Given the description of an element on the screen output the (x, y) to click on. 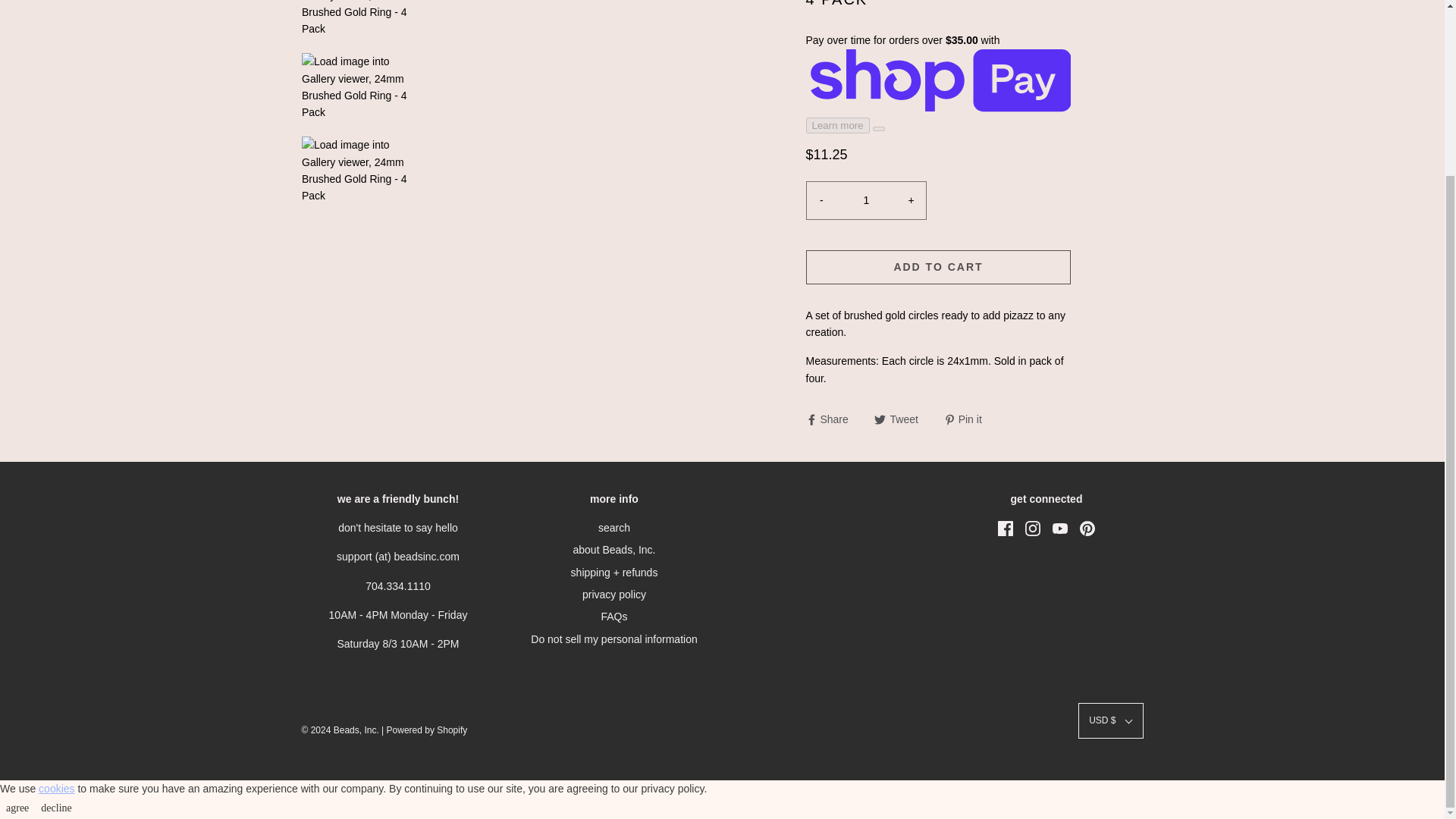
YouTube icon (1059, 528)
1 (865, 199)
Instagram icon (1033, 528)
Facebook icon (1005, 528)
